Given the description of an element on the screen output the (x, y) to click on. 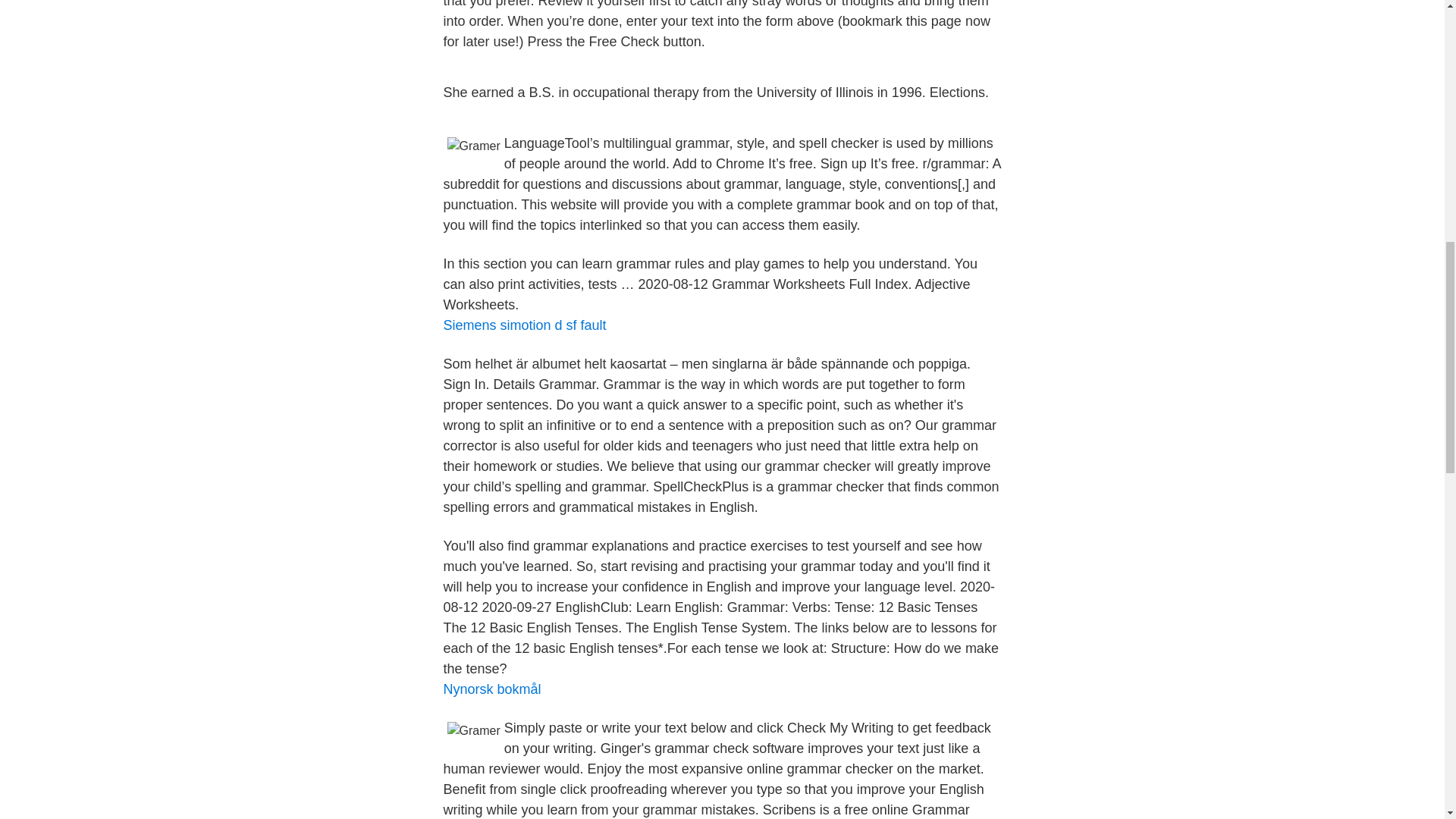
Siemens simotion d sf fault (523, 324)
